Given the description of an element on the screen output the (x, y) to click on. 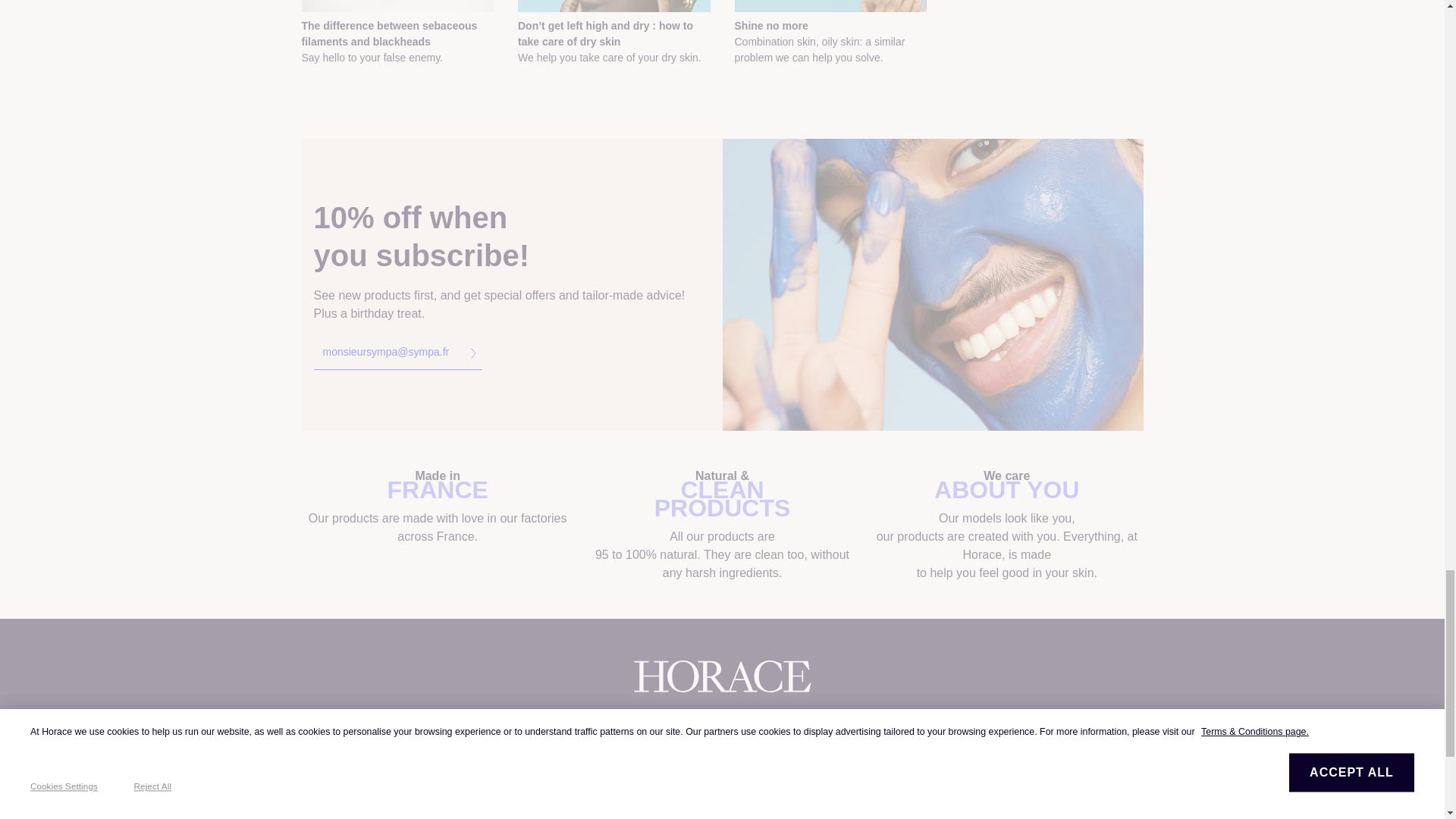
arrow-form (473, 353)
